Given the description of an element on the screen output the (x, y) to click on. 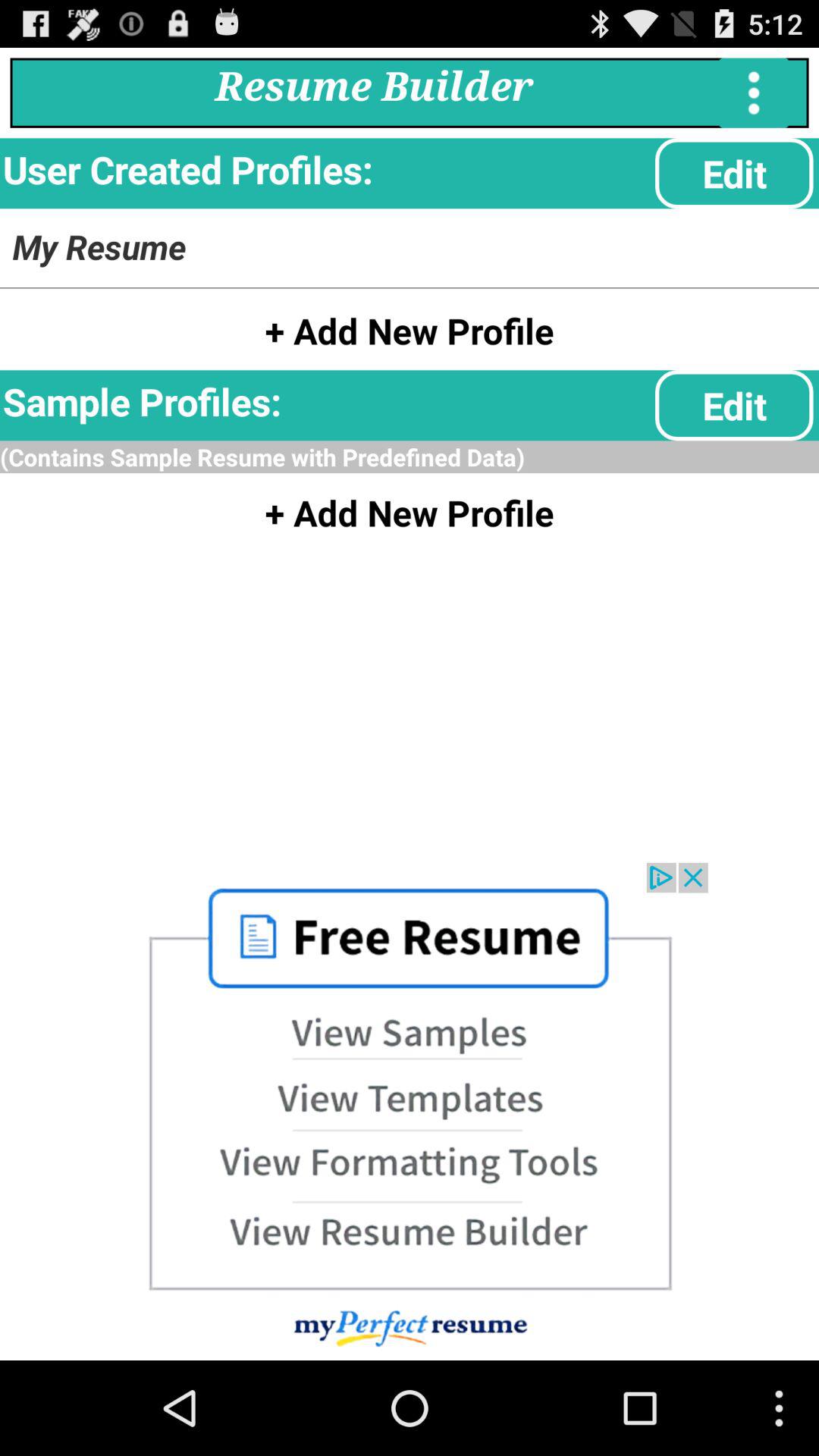
advertisement (409, 1111)
